Given the description of an element on the screen output the (x, y) to click on. 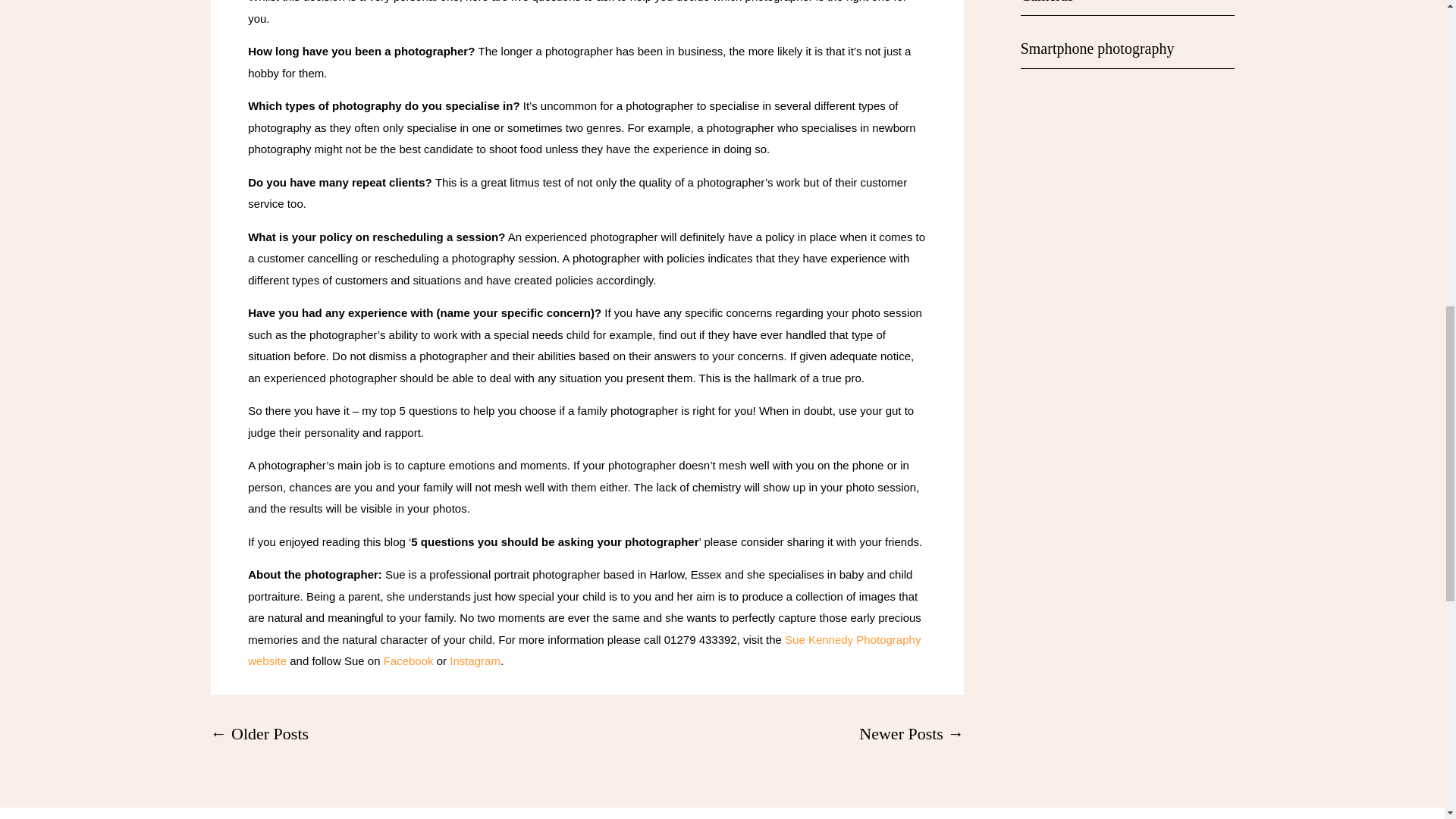
Sue Kennedy Photography website (583, 650)
Instagram (473, 660)
Smartphone photography (1097, 48)
Facebook (406, 660)
5 Limitations of Smartphone Cameras (1107, 2)
